Given the description of an element on the screen output the (x, y) to click on. 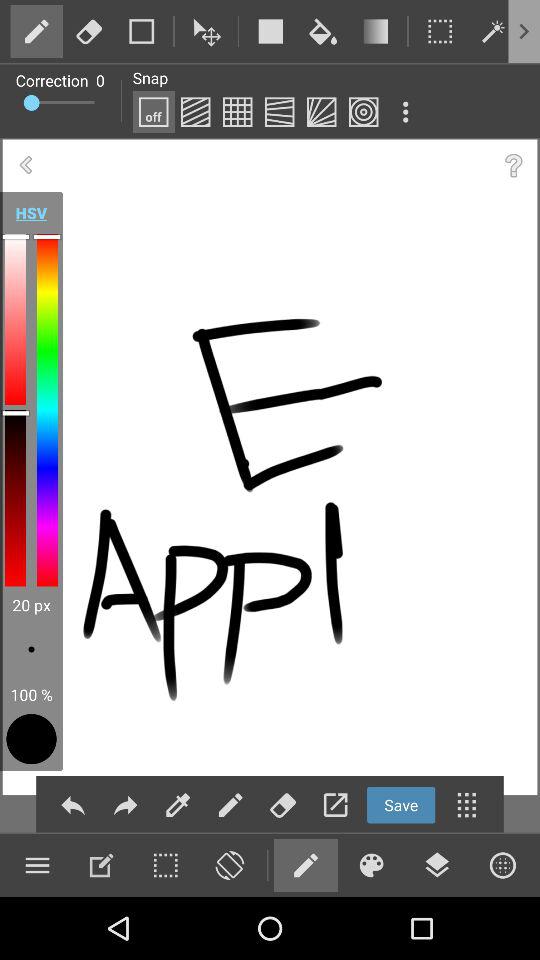
switch crop option (440, 31)
